Given the description of an element on the screen output the (x, y) to click on. 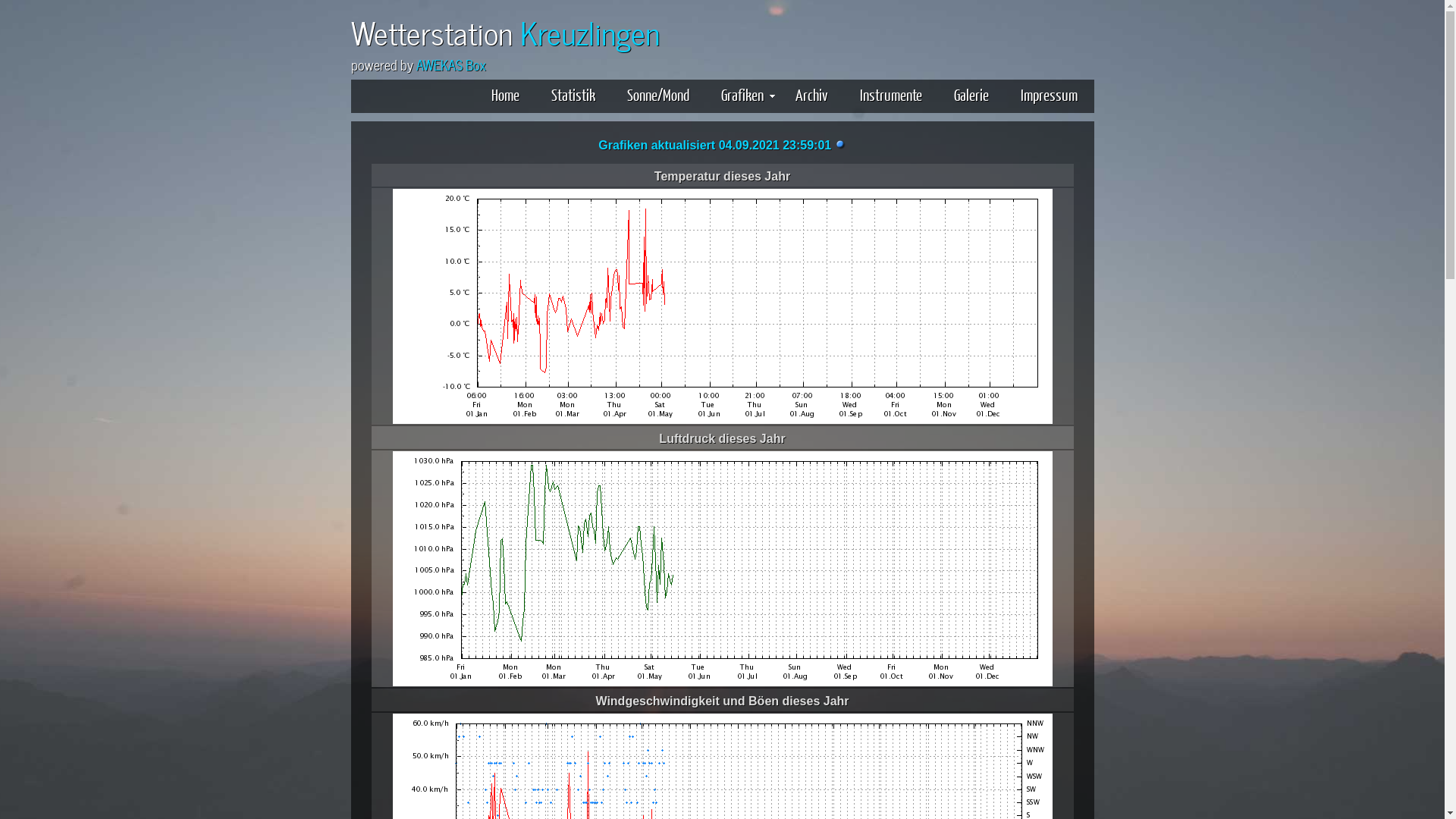
Archiv Element type: text (810, 94)
Sonne/Mond Element type: text (657, 94)
Statistik Element type: text (572, 94)
Home Element type: text (505, 94)
Impressum Element type: text (1048, 94)
AWEKAS Box Element type: text (450, 63)
Instrumente Element type: text (890, 94)
Grafiken Element type: text (741, 94)
Galerie Element type: text (971, 94)
Wetterstation Kreuzlingen Element type: text (504, 30)
